Given the description of an element on the screen output the (x, y) to click on. 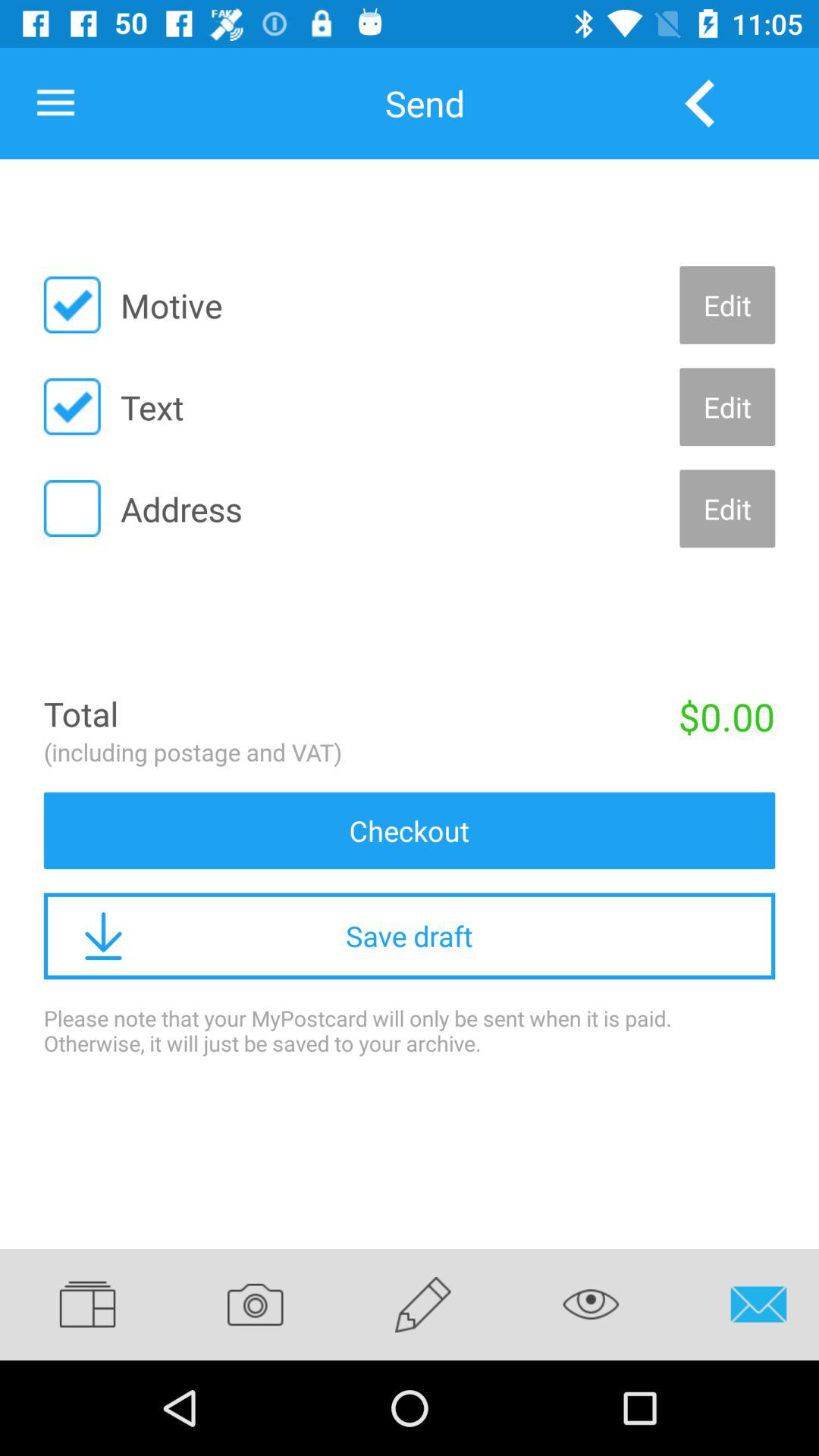
choose the icon below please note that icon (423, 1304)
